Given the description of an element on the screen output the (x, y) to click on. 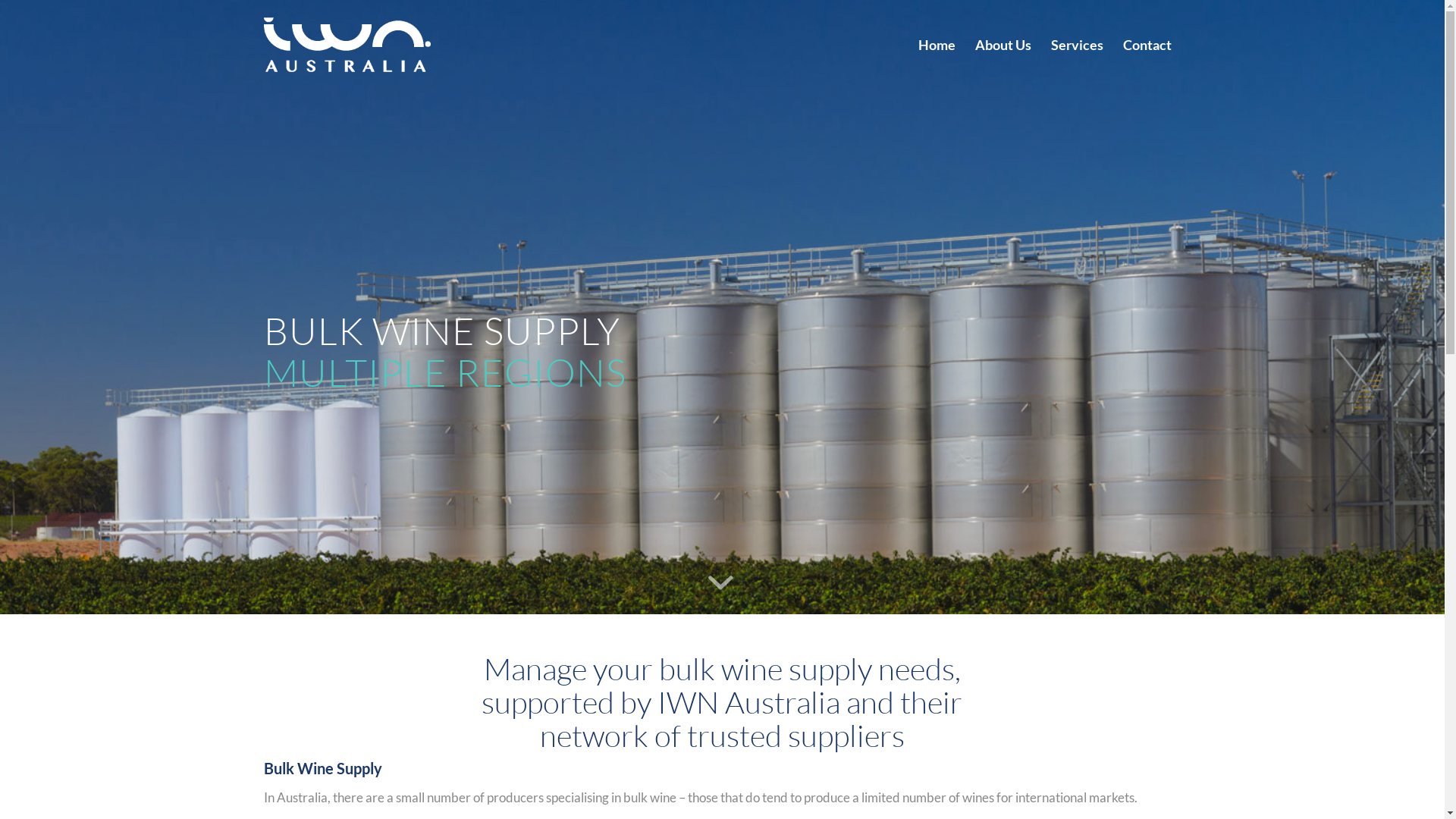
Services Element type: text (1076, 44)
Contact Element type: text (1147, 44)
About Us Element type: text (1002, 44)
Home Element type: text (936, 44)
